Given the description of an element on the screen output the (x, y) to click on. 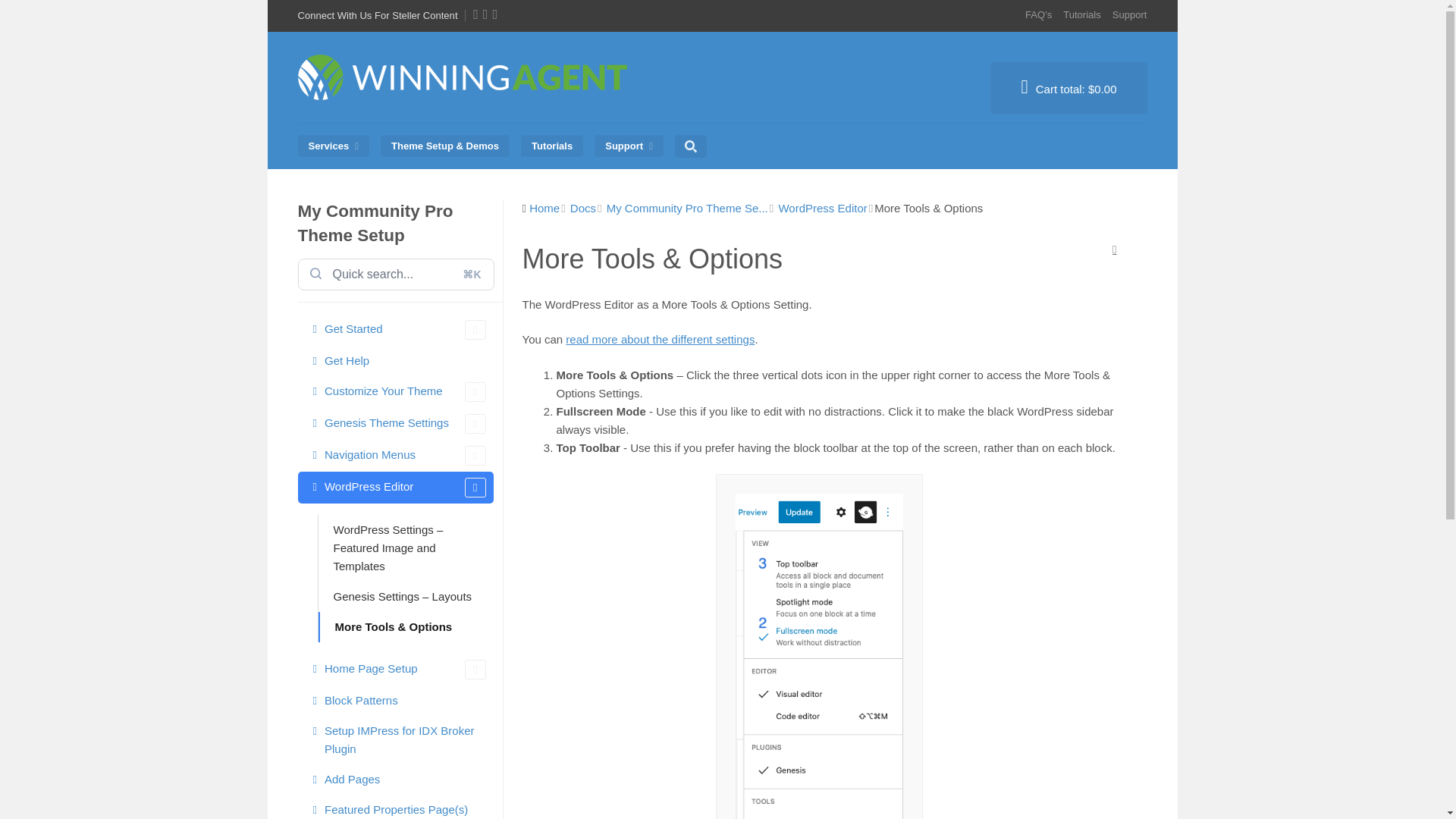
Customize Your Theme (395, 391)
Support (628, 146)
Get Started (395, 329)
Services (332, 146)
Genesis Theme Settings (395, 423)
Search (711, 140)
Tutorials (552, 146)
My Winning Agent (465, 106)
Get Help (395, 360)
Search for: (395, 274)
